Given the description of an element on the screen output the (x, y) to click on. 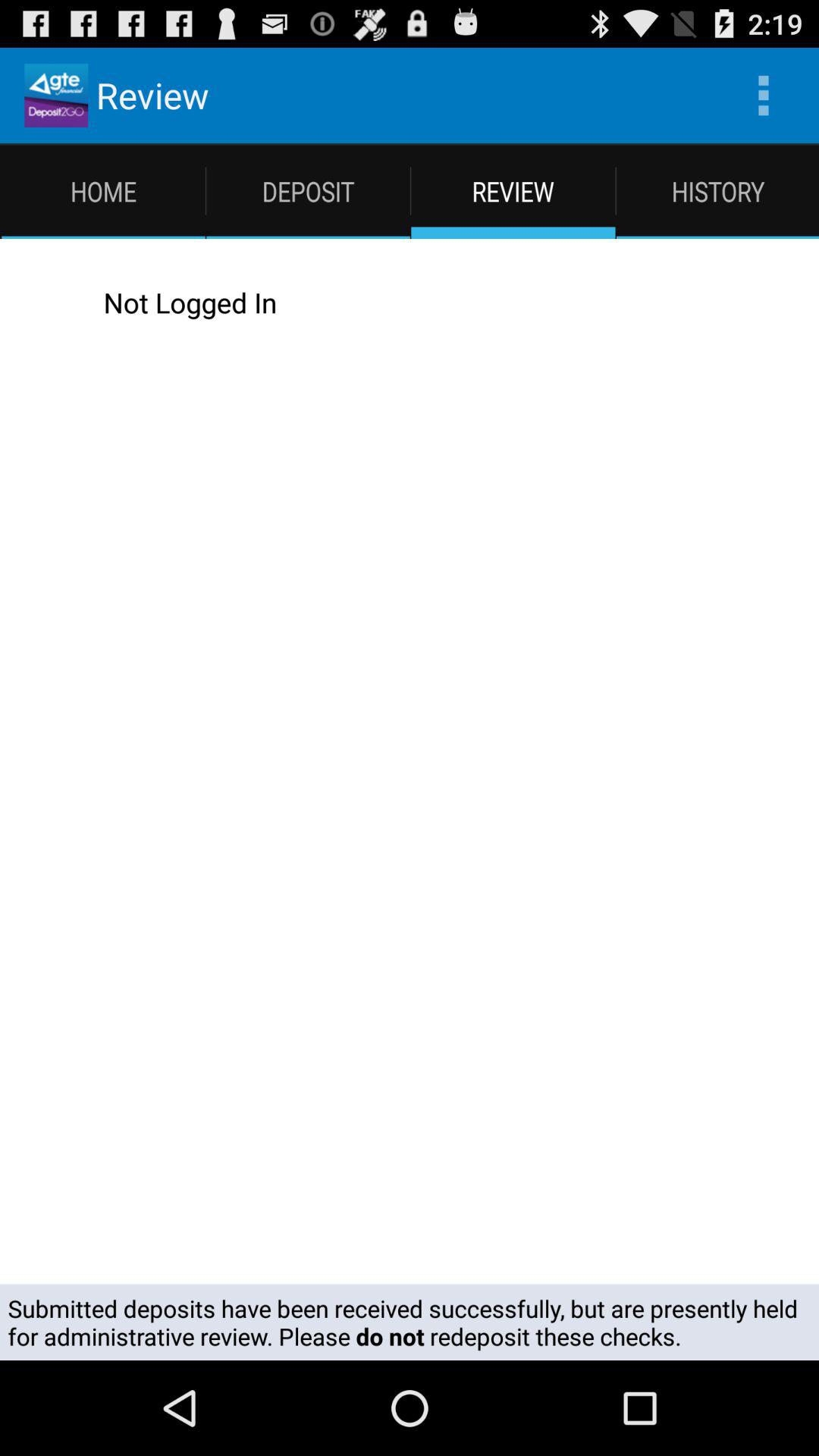
select app next to the review app (763, 95)
